Given the description of an element on the screen output the (x, y) to click on. 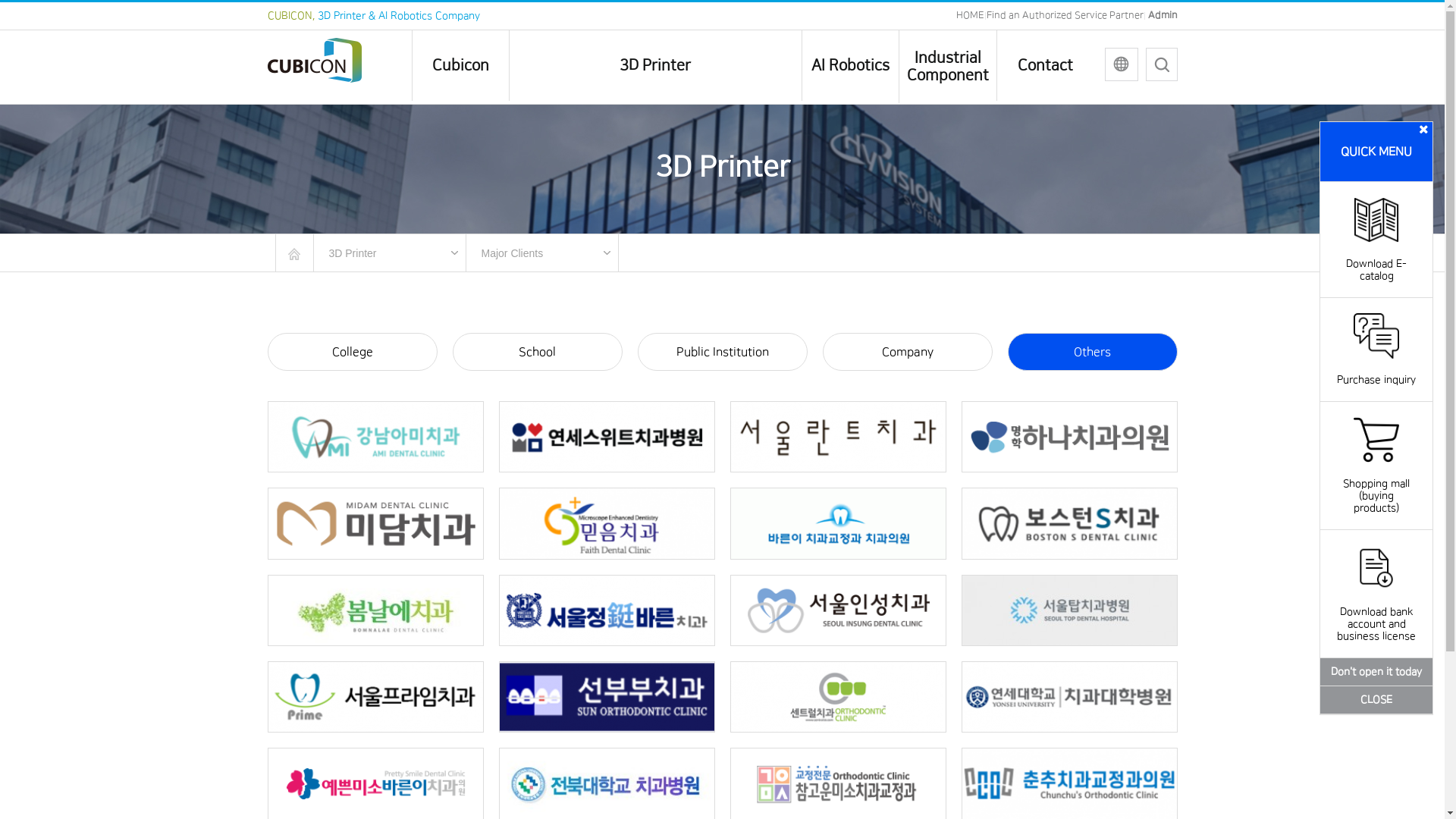
Shopping mall (buying products) Element type: text (1376, 483)
Admin Element type: text (1162, 14)
Purchase inquiry Element type: text (1375, 367)
Industrial
Component Element type: text (947, 66)
School Element type: text (536, 351)
Contact Element type: text (1045, 65)
HOME Element type: text (969, 14)
Don't open it today Element type: text (1375, 671)
Find an Authorized Service Partner Element type: text (1063, 14)
Major Clients Element type: text (541, 252)
CLOSE Element type: text (1376, 699)
Public Institution Element type: text (721, 351)
Others Element type: text (1091, 351)
Cubicon Element type: text (459, 65)
College Element type: text (351, 351)
AI Robotics Element type: text (849, 65)
3D Printer Element type: text (654, 65)
Company Element type: text (906, 351)
3D Printer Element type: text (389, 252)
Download bank account and business license Element type: text (1375, 611)
Download E-catalog Element type: text (1376, 257)
